Given the description of an element on the screen output the (x, y) to click on. 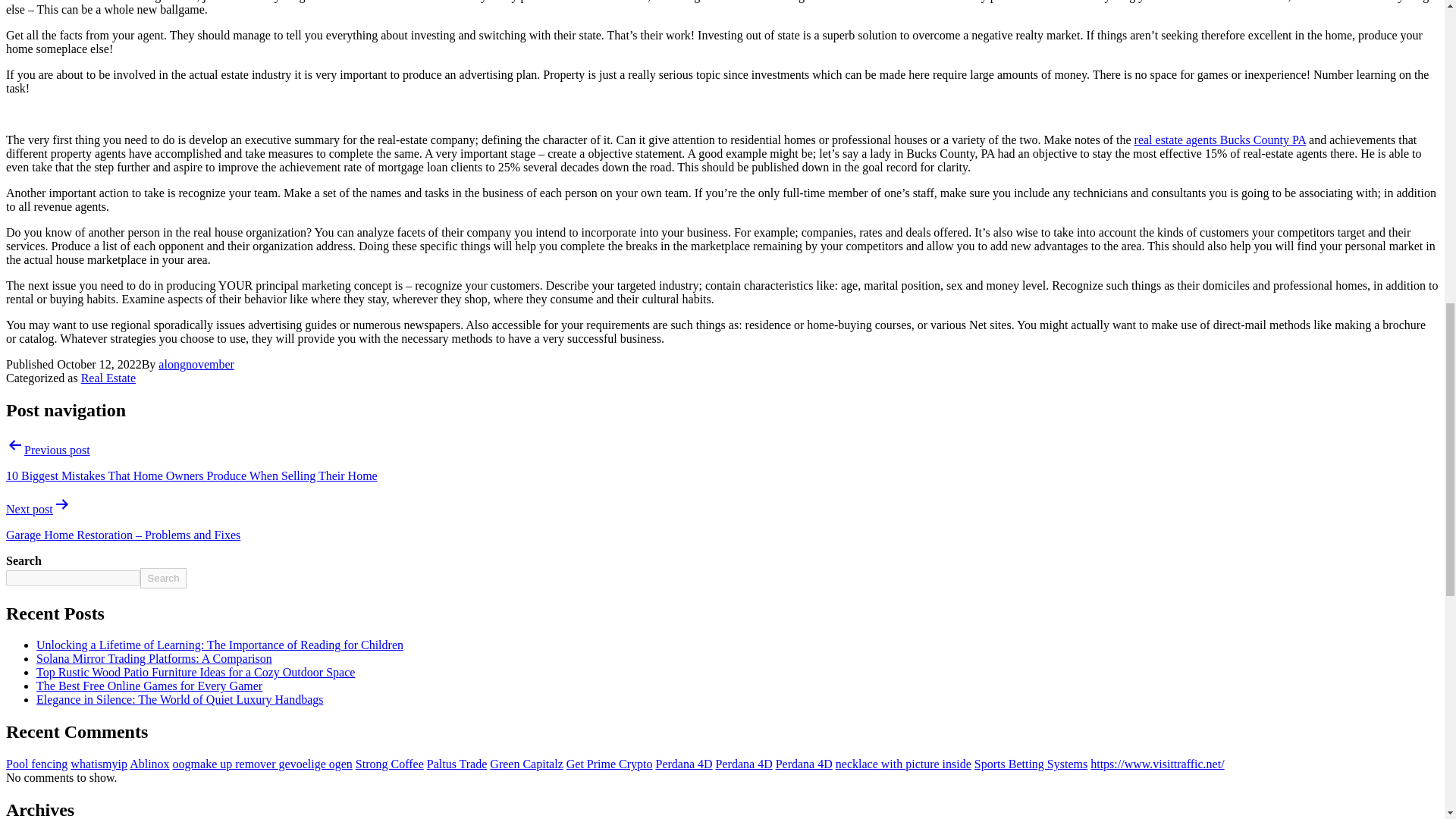
Solana Mirror Trading Platforms: A Comparison (154, 658)
Paltus Trade (456, 763)
Search (162, 578)
alongnovember (196, 364)
Pool fencing (35, 763)
real estate agents Bucks County PA (1220, 139)
whatismyip (98, 763)
Strong Coffee (389, 763)
Elegance in Silence: The World of Quiet Luxury Handbags (179, 698)
oogmake up remover gevoelige ogen (262, 763)
The Best Free Online Games for Every Gamer (149, 685)
Ablinox (148, 763)
Real Estate (108, 377)
